Given the description of an element on the screen output the (x, y) to click on. 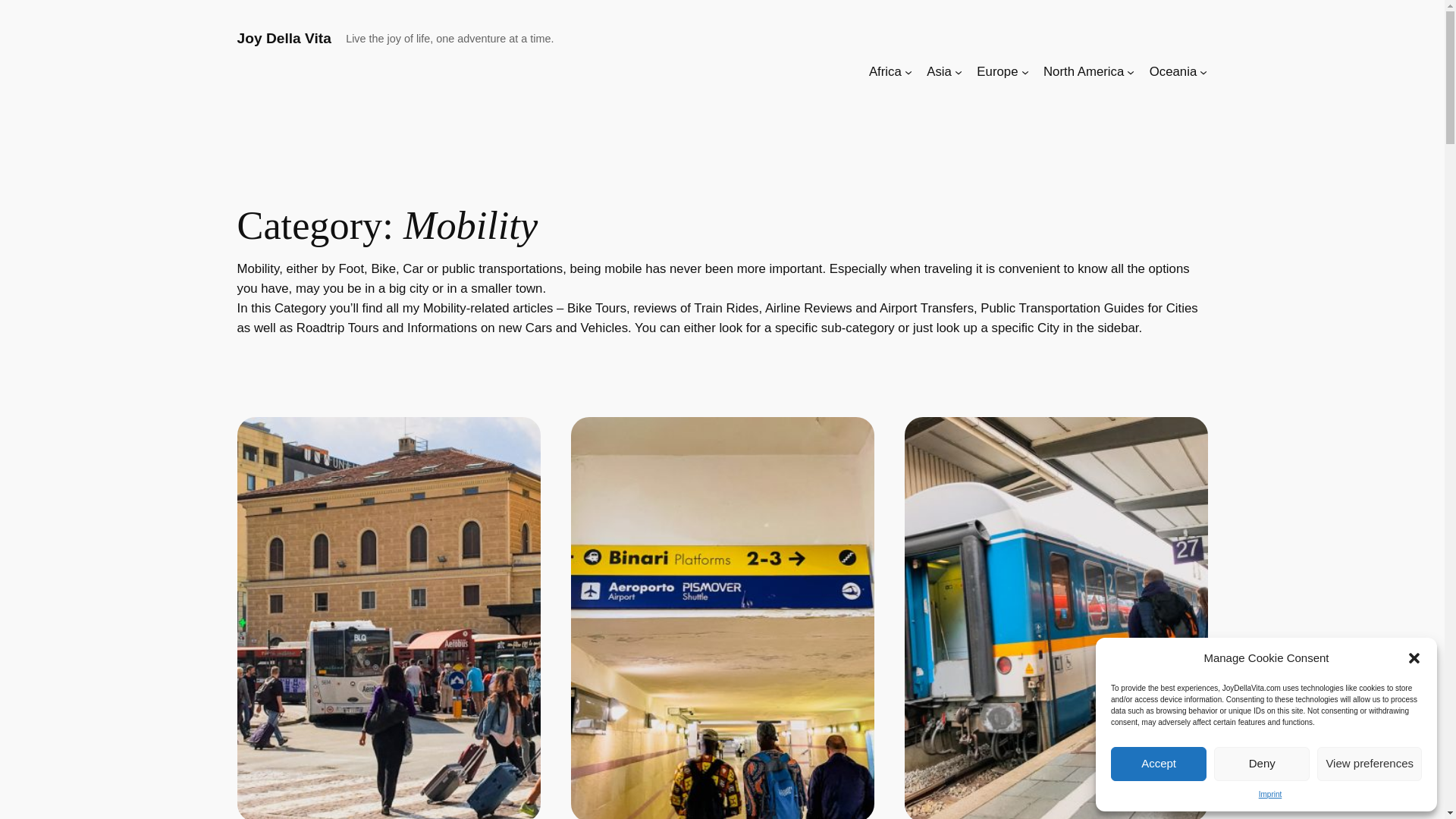
Travel cheaply in Germany this summer with 9 Euro Ticket 3 (1055, 617)
Imprint (1270, 794)
Asia (939, 71)
Europe (996, 71)
Deny (1261, 763)
View preferences (1369, 763)
Joy Della Vita (282, 37)
Africa (885, 71)
Accept (1158, 763)
